Given the description of an element on the screen output the (x, y) to click on. 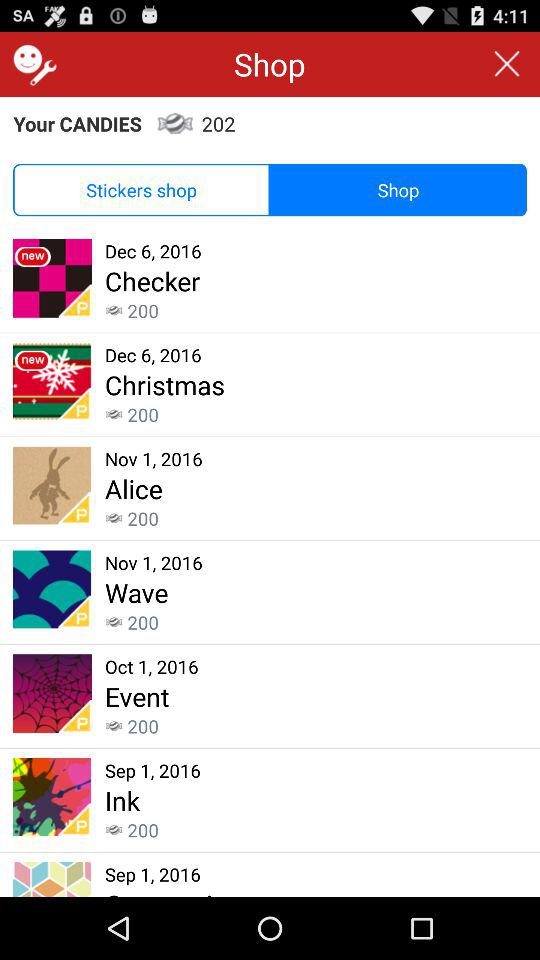
open ink icon (122, 800)
